Given the description of an element on the screen output the (x, y) to click on. 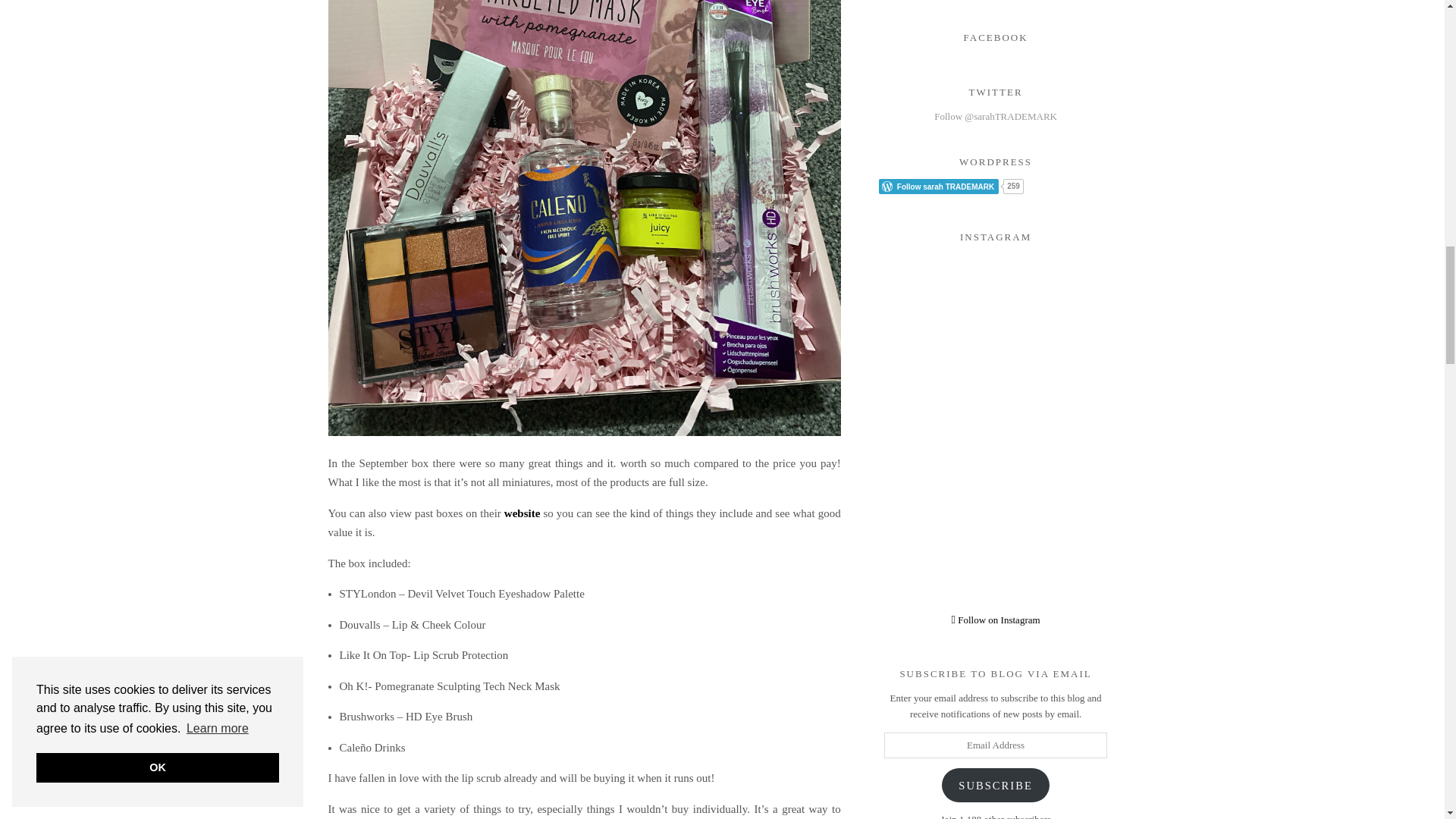
website (521, 512)
